Given the description of an element on the screen output the (x, y) to click on. 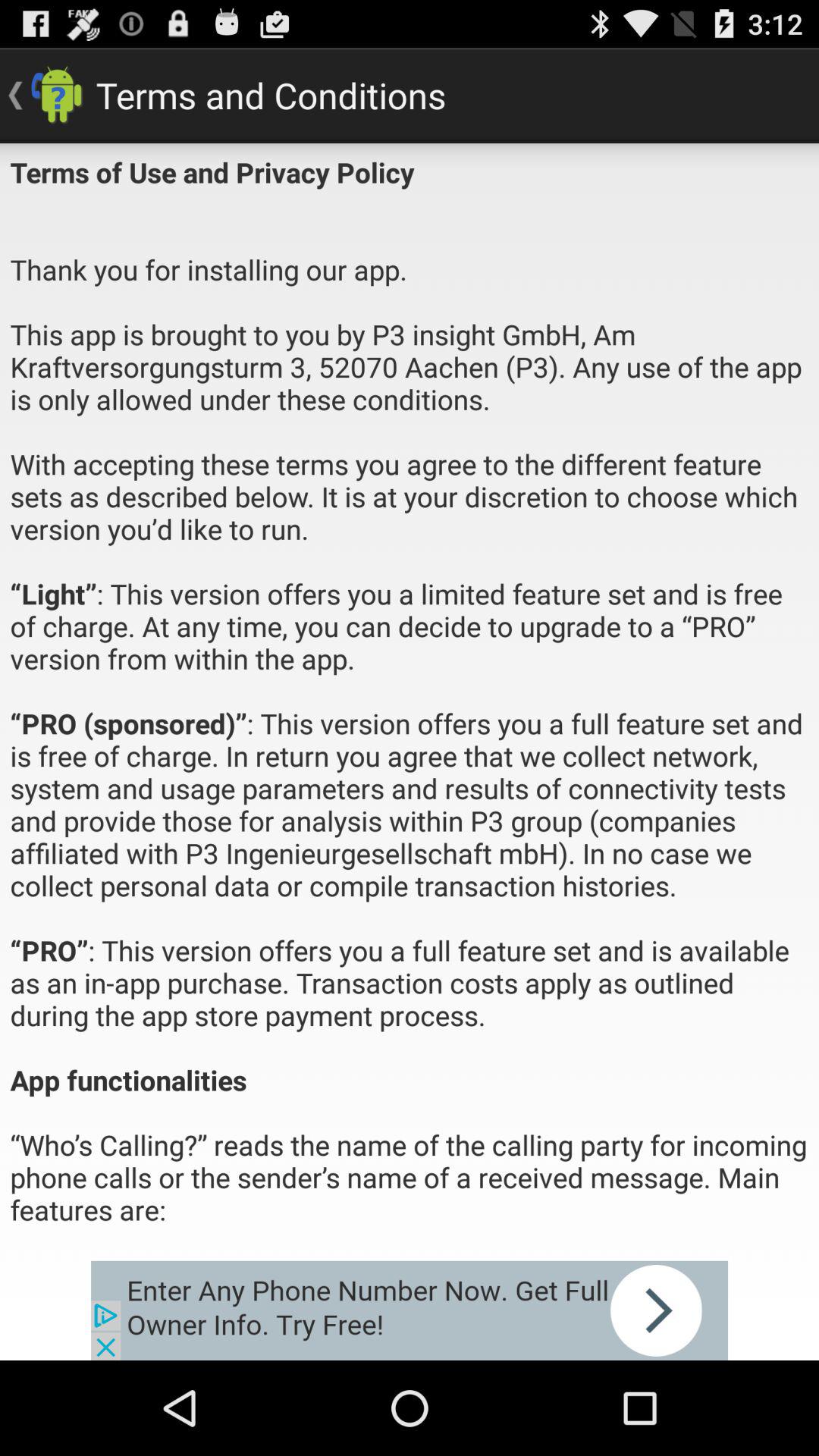
open the advertisement link (409, 1310)
